Given the description of an element on the screen output the (x, y) to click on. 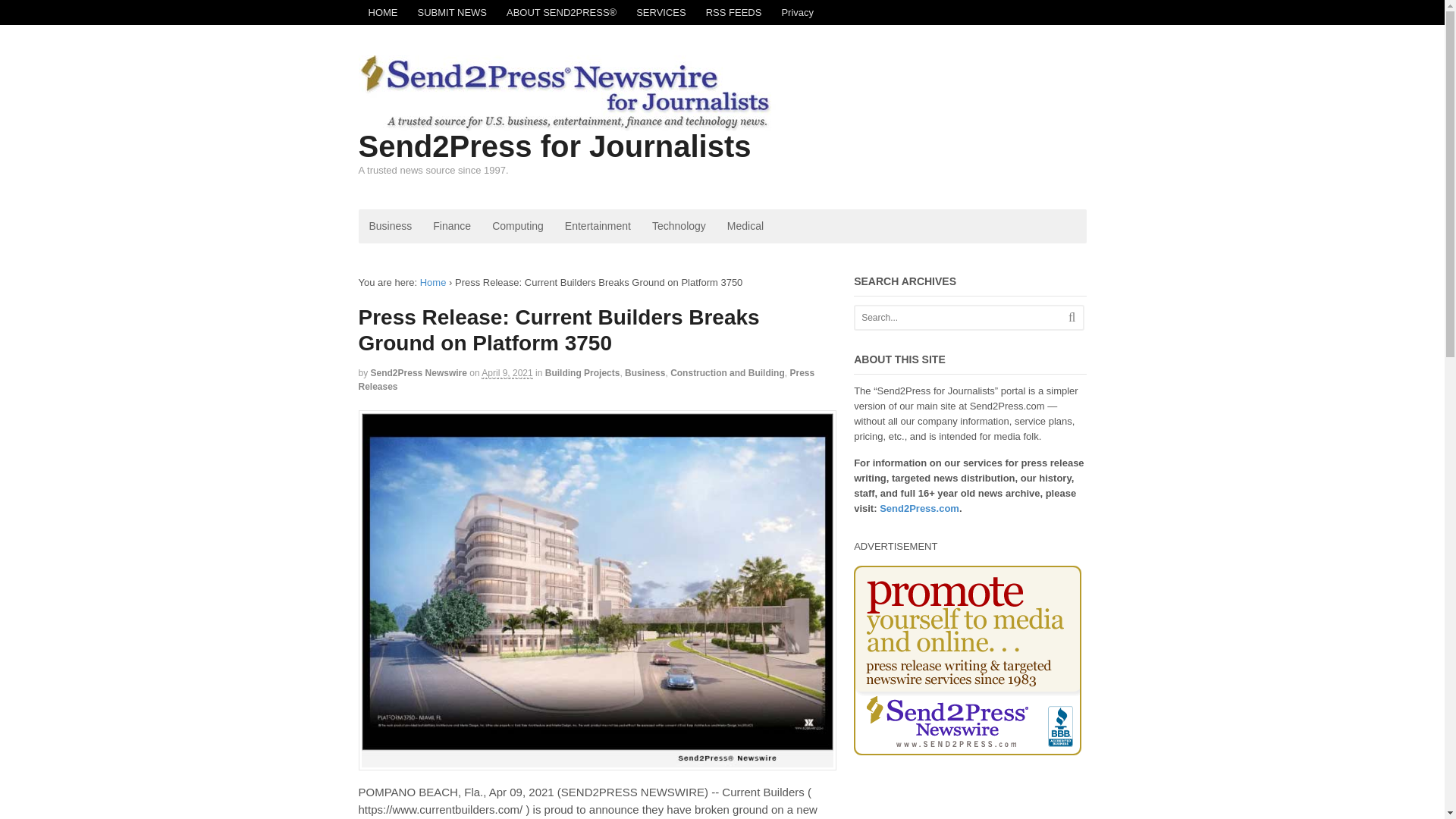
View all items in Business (644, 372)
Posts by Send2Press Newswire (419, 372)
View all items in Building Projects (582, 372)
Technology (679, 226)
Send2Press Newswire (419, 372)
SUBMIT NEWS (452, 12)
Send2Press for Journalists (554, 145)
Construction and Building (726, 372)
Business (390, 226)
Medical (745, 226)
